Given the description of an element on the screen output the (x, y) to click on. 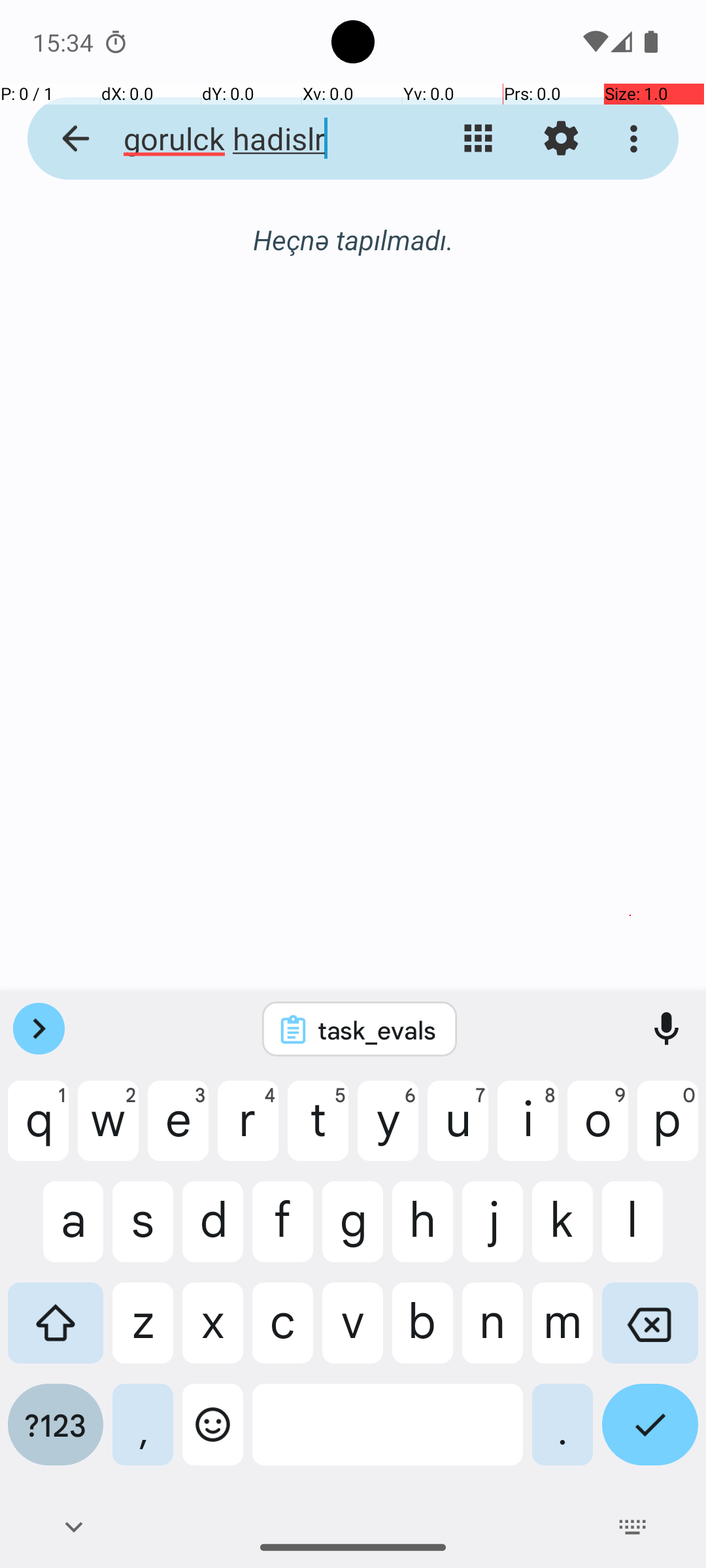
gorulck hadislr Element type: android.widget.EditText (252, 138)
Heçnə tapılmadı. Element type: android.widget.TextView (353, 239)
